Given the description of an element on the screen output the (x, y) to click on. 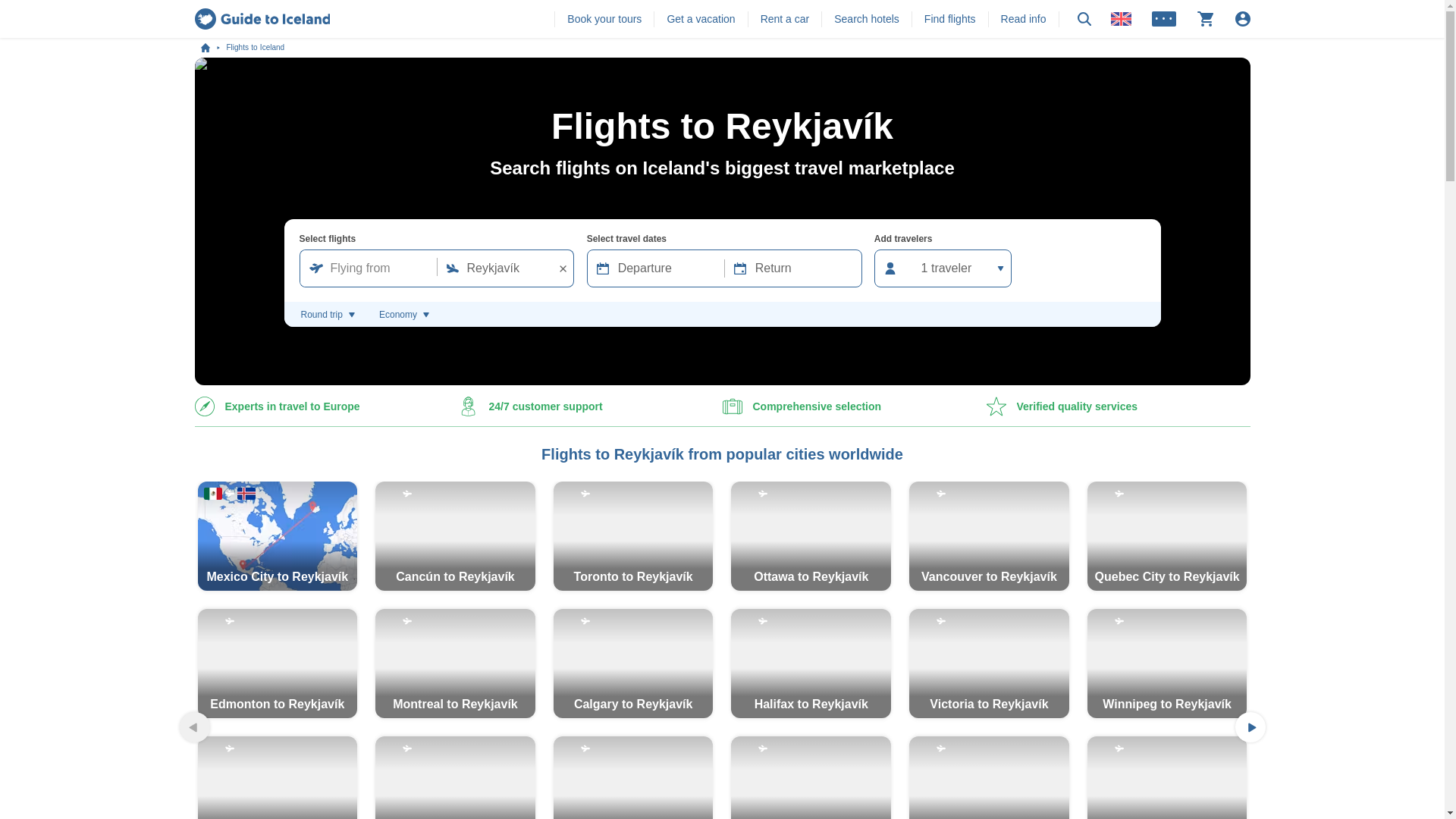
Rent a car (784, 18)
Iceland (212, 47)
Find flights (949, 18)
Read info (1023, 18)
Book your tours (604, 18)
Get a vacation (700, 18)
Flights to Iceland (254, 47)
Search hotels (866, 18)
Flights to Iceland (254, 47)
Guide to Iceland (261, 18)
